Given the description of an element on the screen output the (x, y) to click on. 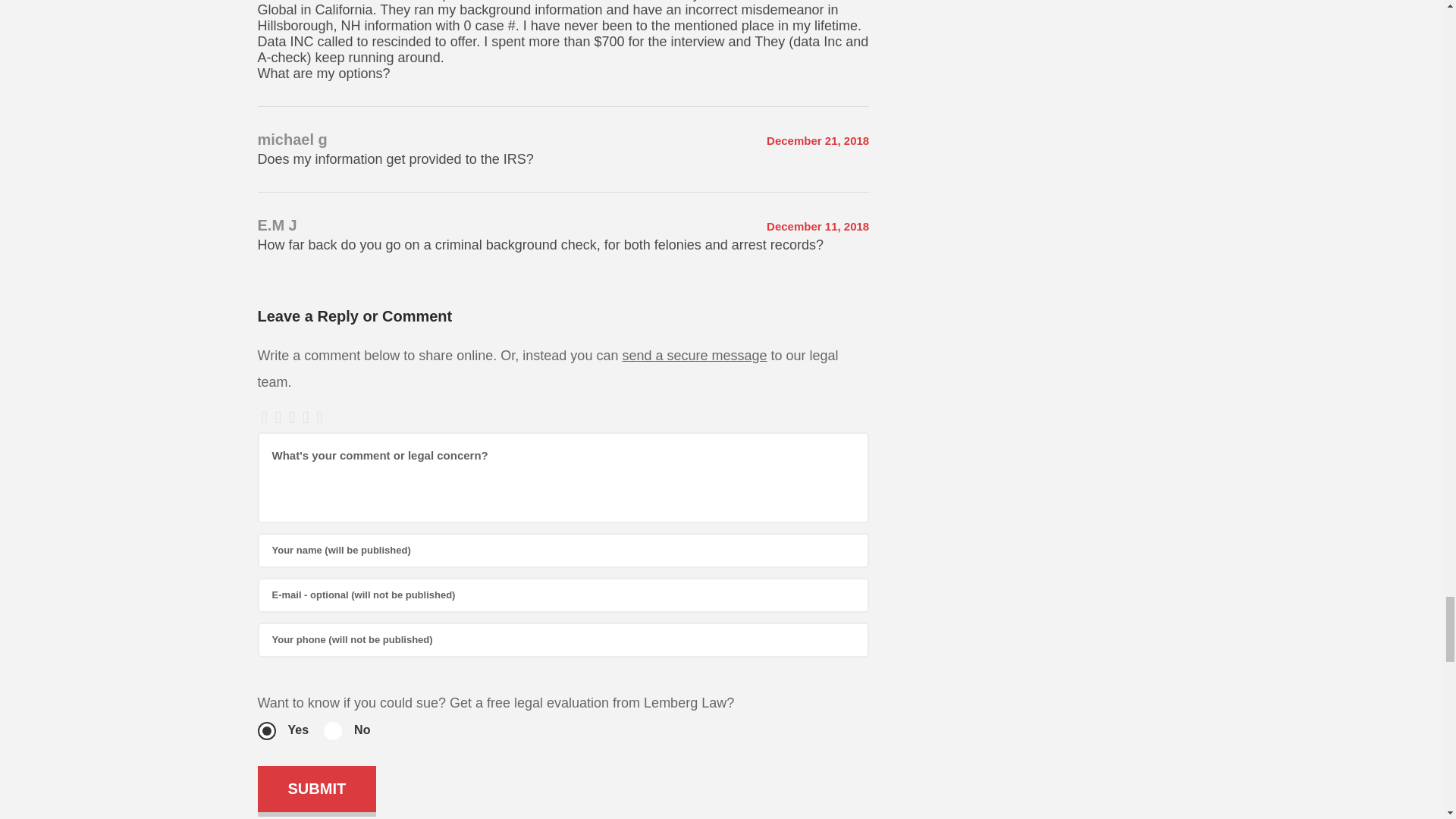
3 stars (291, 418)
2 stars (277, 418)
5 stars (319, 418)
SUBMIT (317, 788)
4 stars (305, 418)
1 star (263, 418)
SUBMIT (317, 788)
send a secure message (694, 355)
